Given the description of an element on the screen output the (x, y) to click on. 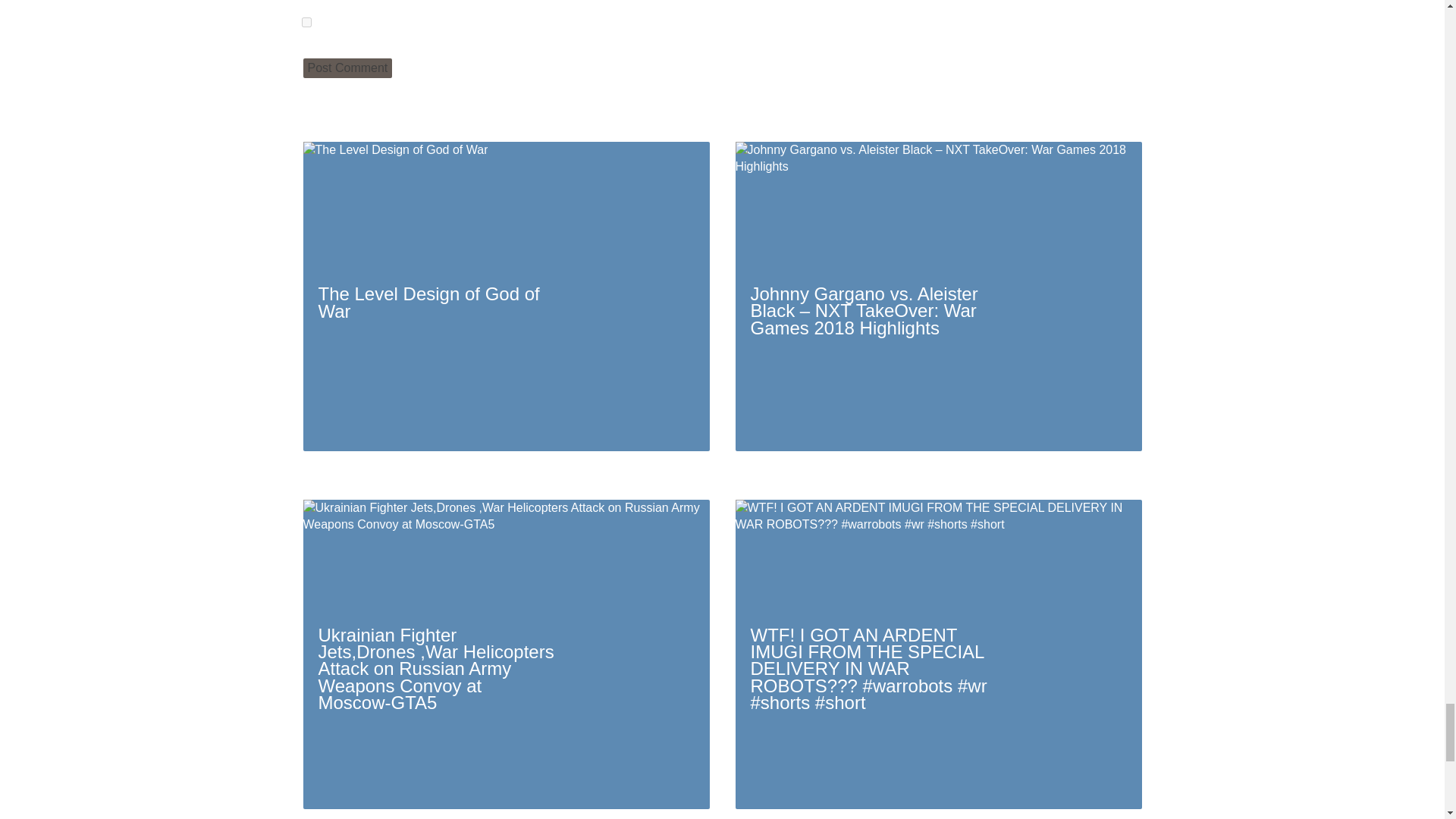
Post Comment (347, 67)
yes (306, 22)
